Given the description of an element on the screen output the (x, y) to click on. 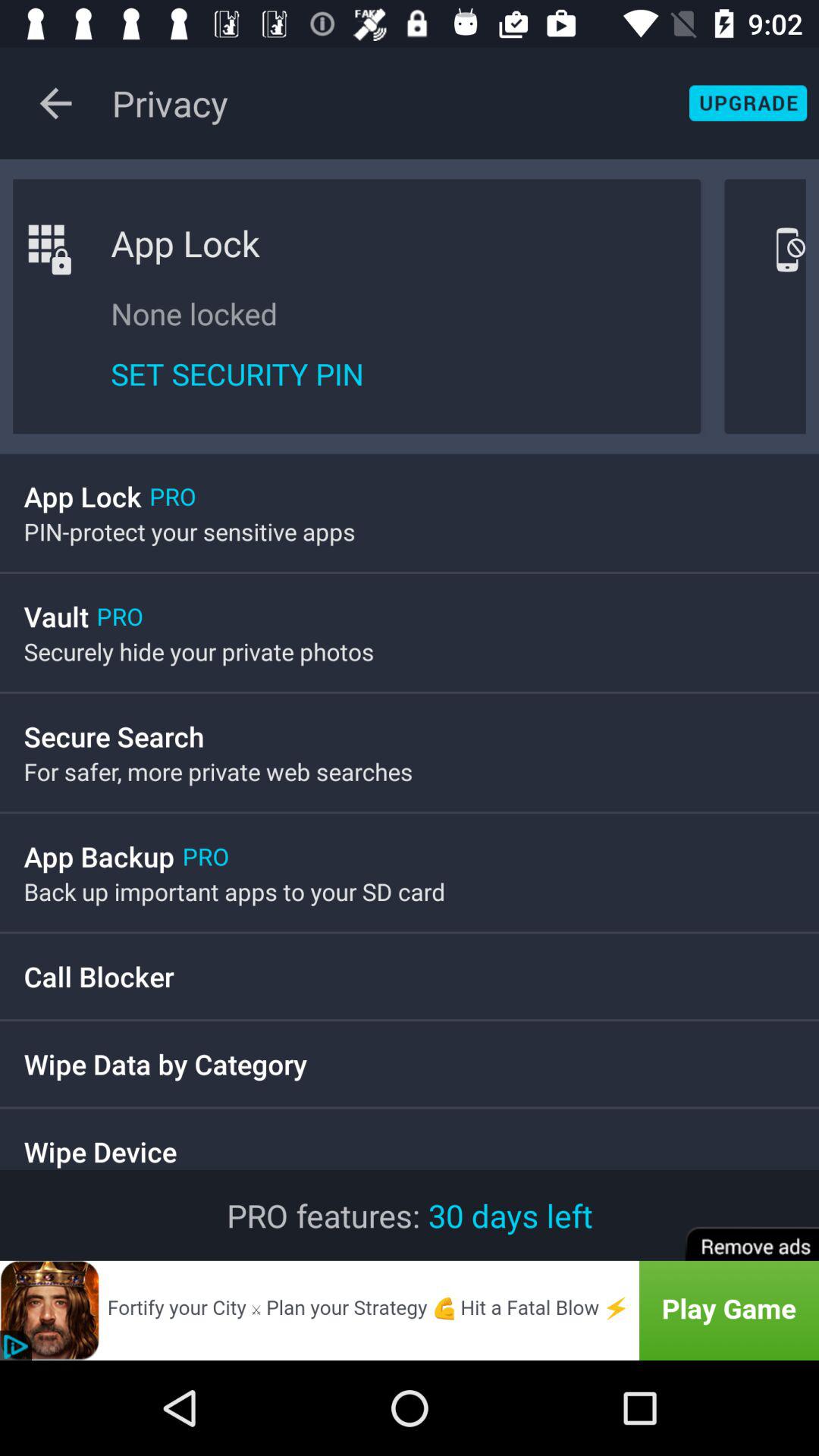
click the button above the wipe device on the web page (207, 1080)
